Given the description of an element on the screen output the (x, y) to click on. 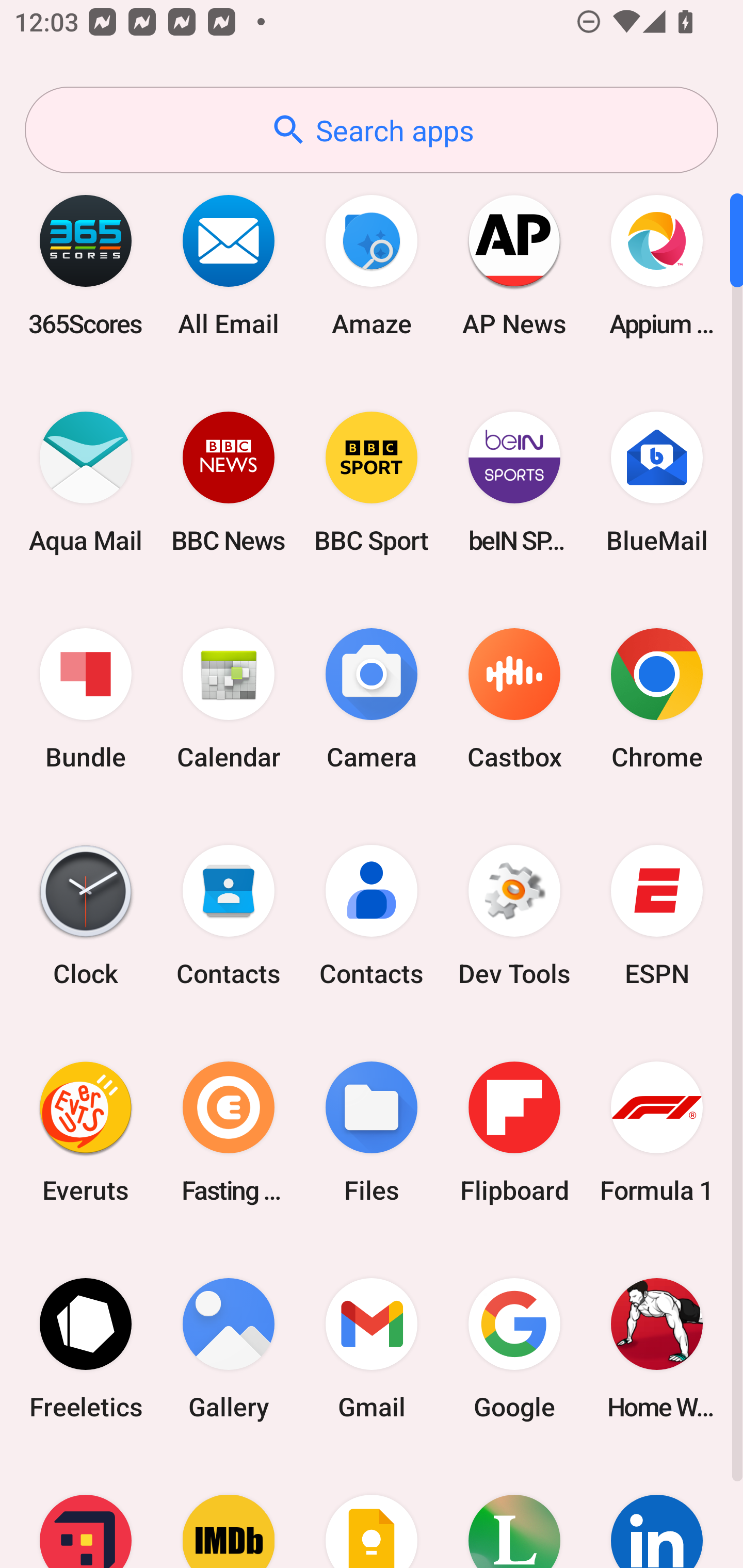
  Search apps (371, 130)
365Scores (85, 264)
All Email (228, 264)
Amaze (371, 264)
AP News (514, 264)
Appium Settings (656, 264)
Aqua Mail (85, 482)
BBC News (228, 482)
BBC Sport (371, 482)
beIN SPORTS (514, 482)
BlueMail (656, 482)
Bundle (85, 699)
Calendar (228, 699)
Camera (371, 699)
Castbox (514, 699)
Chrome (656, 699)
Clock (85, 915)
Contacts (228, 915)
Contacts (371, 915)
Dev Tools (514, 915)
ESPN (656, 915)
Everuts (85, 1131)
Fasting Coach (228, 1131)
Files (371, 1131)
Flipboard (514, 1131)
Formula 1 (656, 1131)
Freeletics (85, 1348)
Gallery (228, 1348)
Gmail (371, 1348)
Google (514, 1348)
Home Workout (656, 1348)
Hotels.com (85, 1512)
IMDb (228, 1512)
Keep Notes (371, 1512)
Lifesum (514, 1512)
LinkedIn (656, 1512)
